Given the description of an element on the screen output the (x, y) to click on. 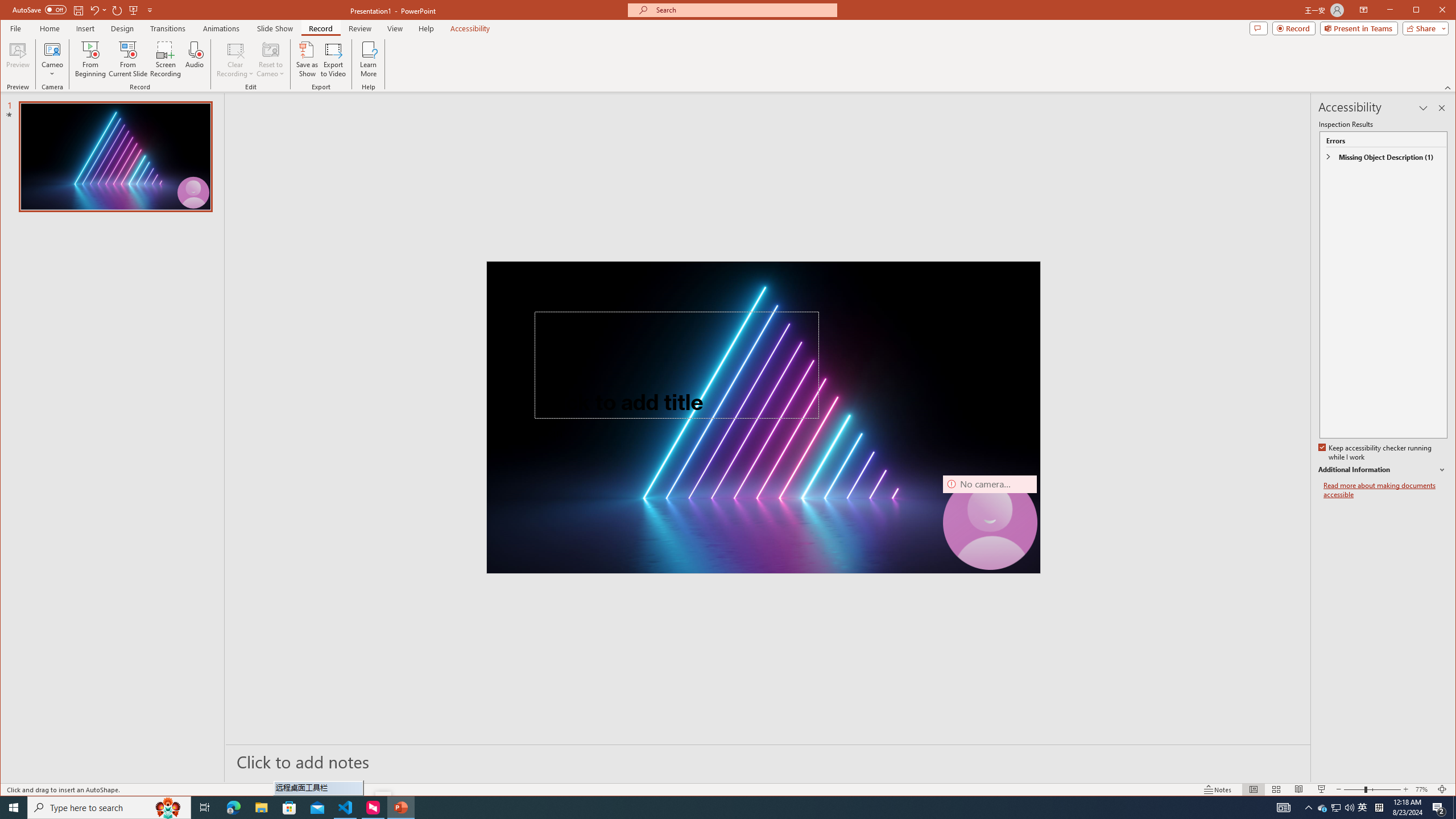
Save as Show (307, 59)
File Explorer (1335, 807)
AutomationID: 4105 (261, 807)
Show desktop (1283, 807)
Start (1454, 807)
